Given the description of an element on the screen output the (x, y) to click on. 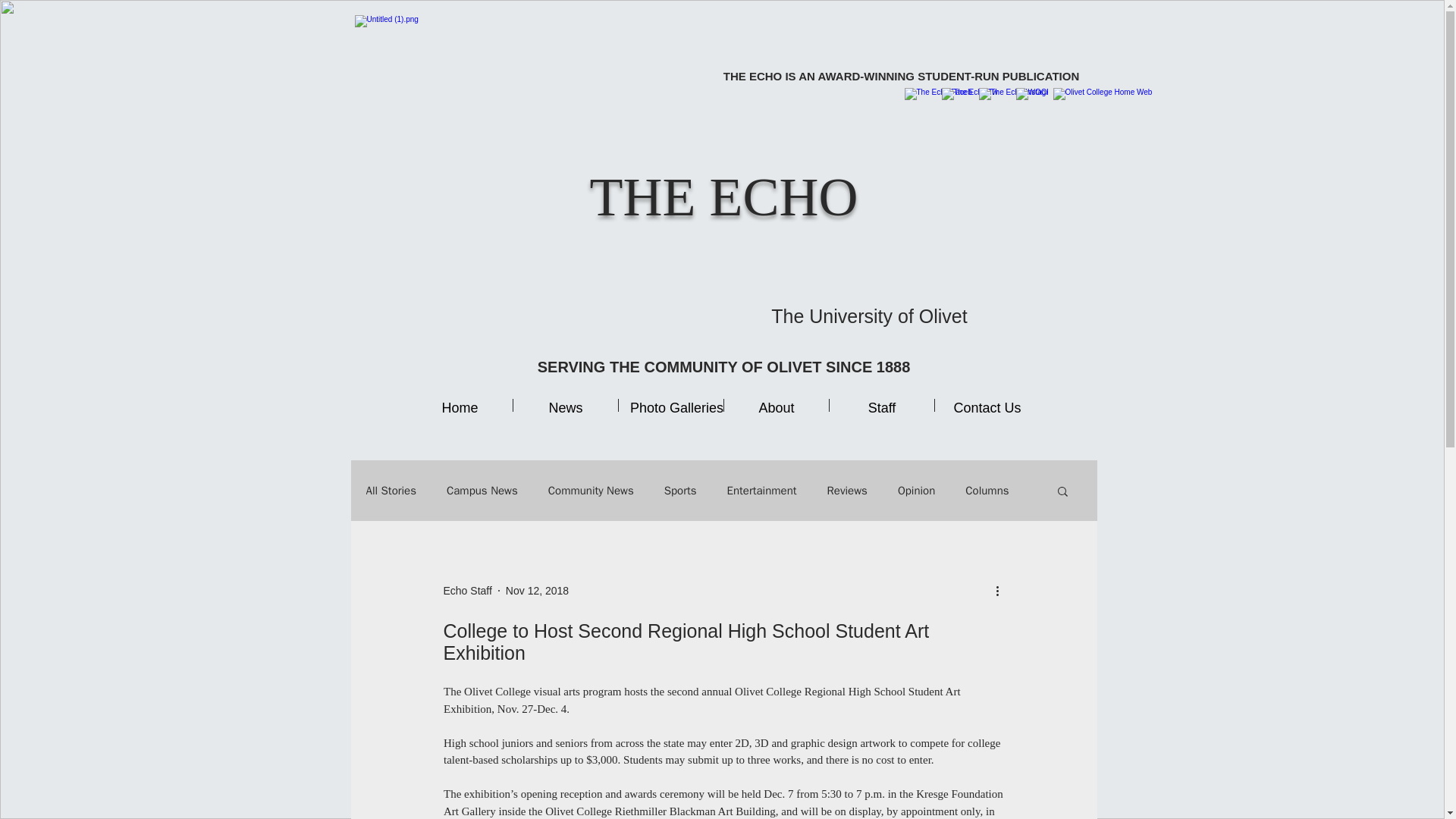
Community News (590, 490)
Opinion (916, 490)
Entertainment (761, 490)
Campus News (482, 490)
Echo Staff (467, 590)
Nov 12, 2018 (537, 589)
All Stories (390, 490)
Sports (680, 490)
Home (459, 404)
Contact Us (986, 404)
